Given the description of an element on the screen output the (x, y) to click on. 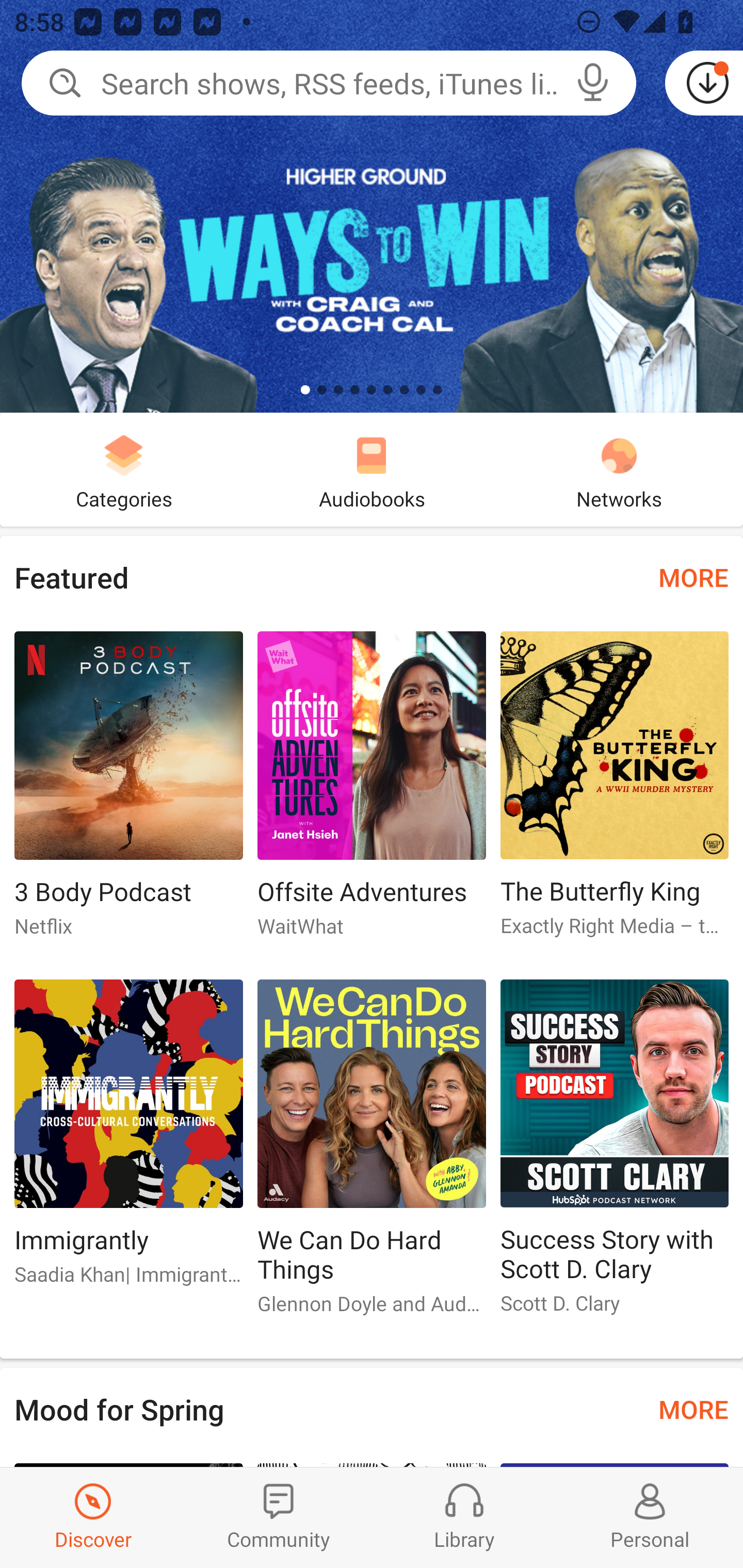
Ways To Win (371, 206)
Categories (123, 469)
Audiobooks (371, 469)
Networks (619, 469)
MORE (693, 576)
3 Body Podcast 3 Body Podcast Netflix (128, 792)
Offsite Adventures Offsite Adventures WaitWhat (371, 792)
MORE (693, 1409)
Discover (92, 1517)
Community (278, 1517)
Library (464, 1517)
Profiles and Settings Personal (650, 1517)
